Given the description of an element on the screen output the (x, y) to click on. 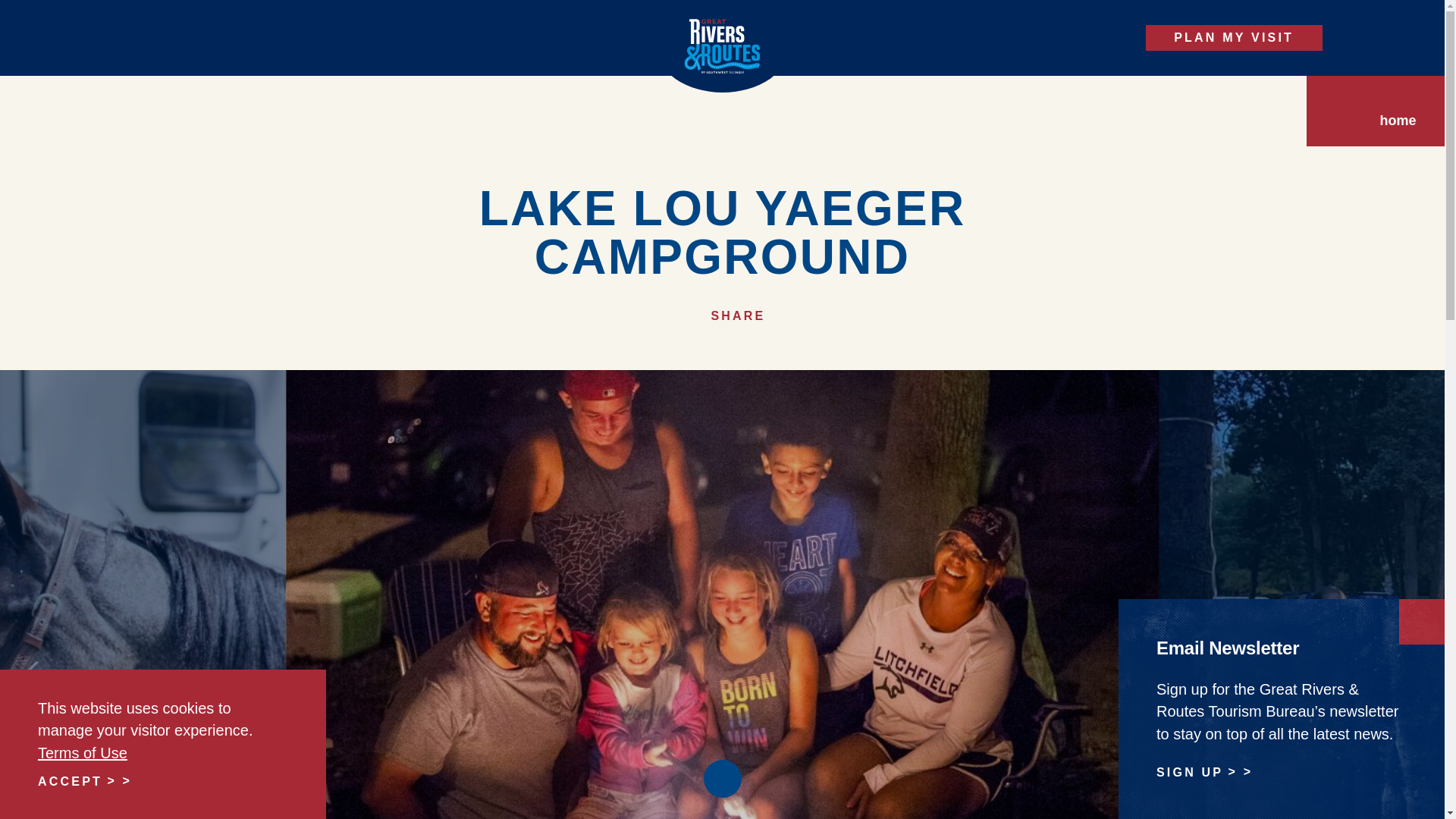
SHARE (721, 316)
Skip to content (17, 15)
PLAN MY VISIT (1233, 38)
